Given the description of an element on the screen output the (x, y) to click on. 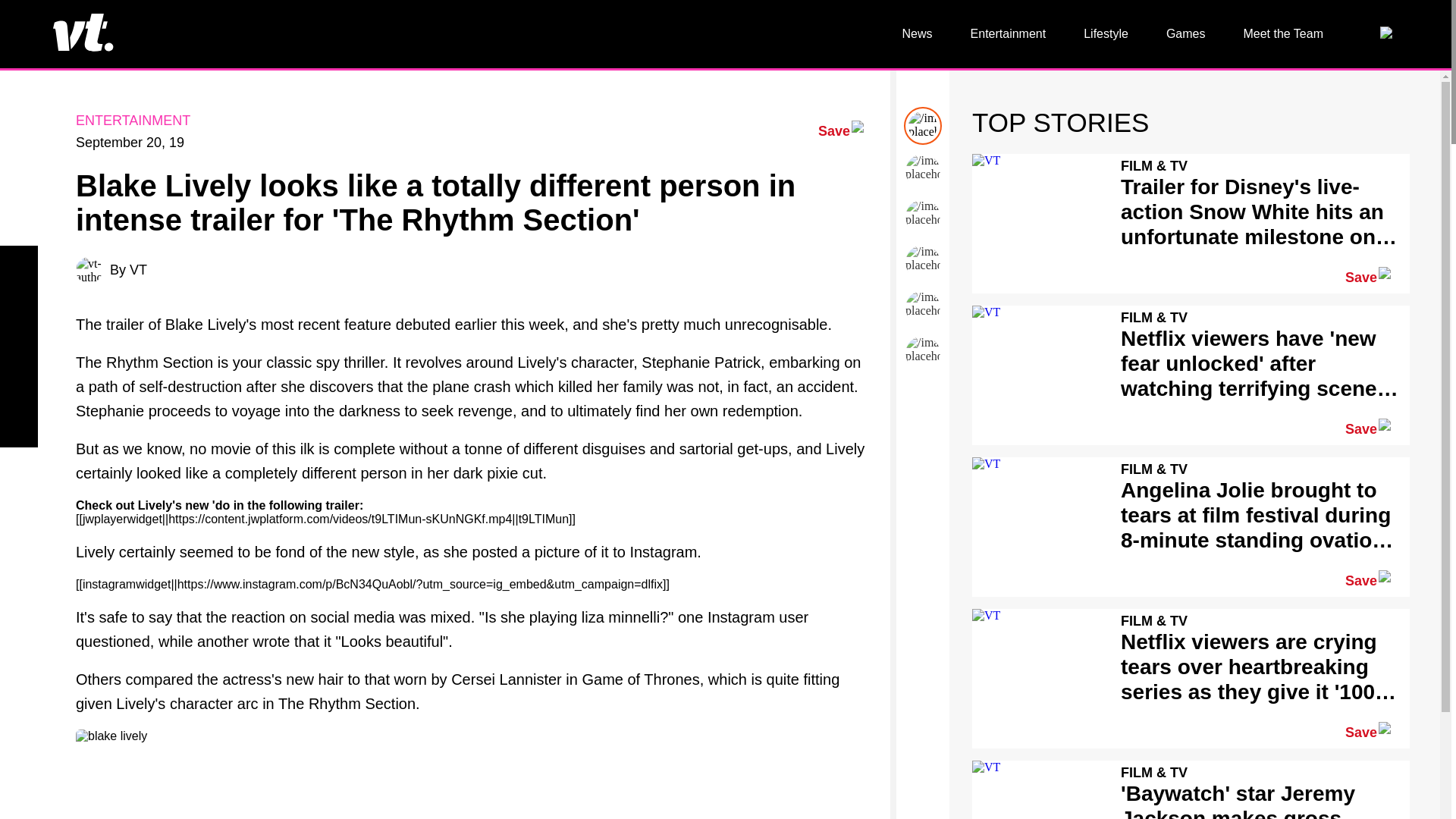
ENTERTAINMENT (132, 120)
Meet the Team (1283, 33)
Entertainment (1008, 33)
News (917, 33)
Games (1185, 33)
Lifestyle (1105, 33)
